Given the description of an element on the screen output the (x, y) to click on. 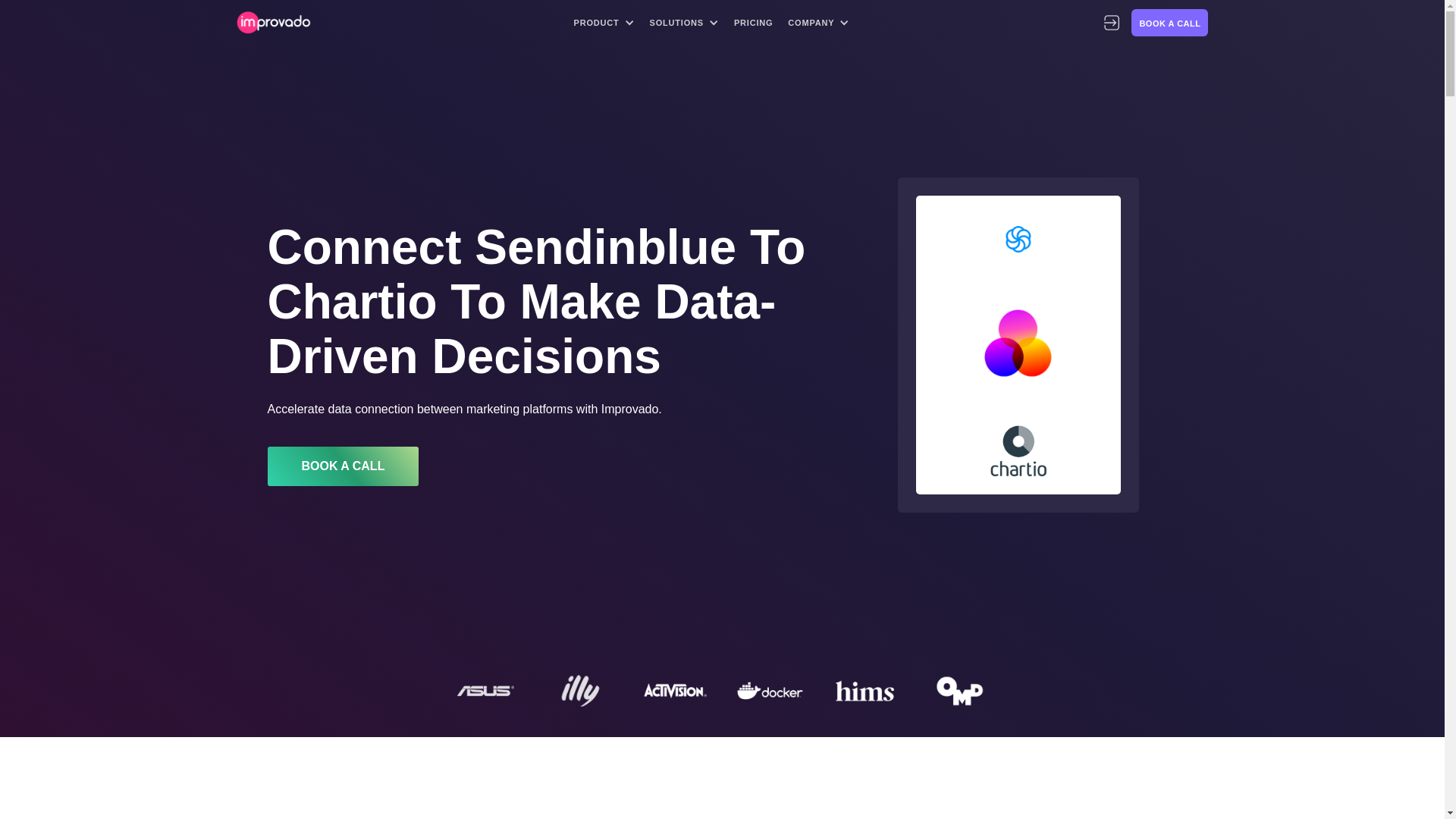
PRICING (753, 22)
